Given the description of an element on the screen output the (x, y) to click on. 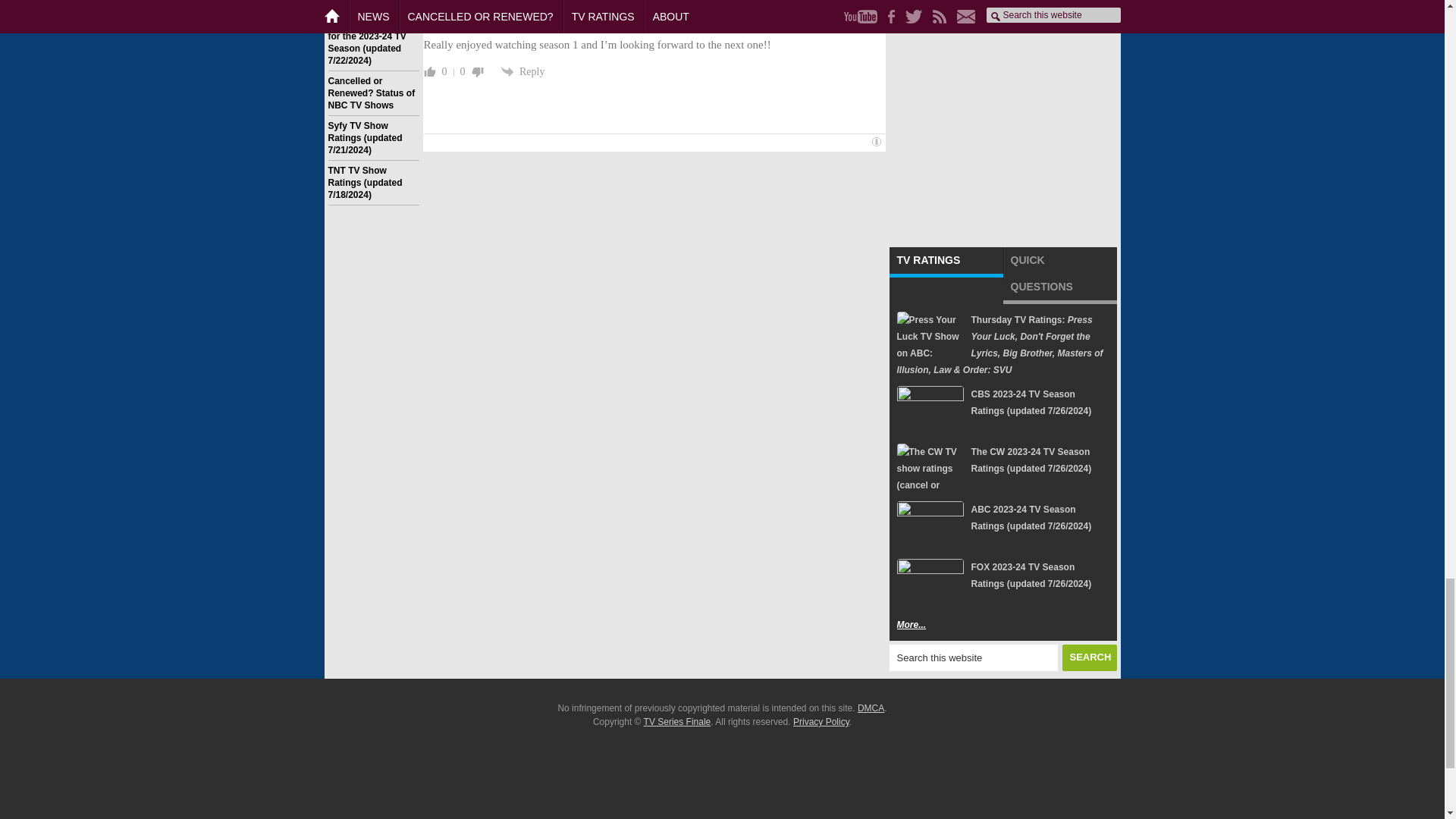
Search (1088, 657)
Search (1088, 657)
